Given the description of an element on the screen output the (x, y) to click on. 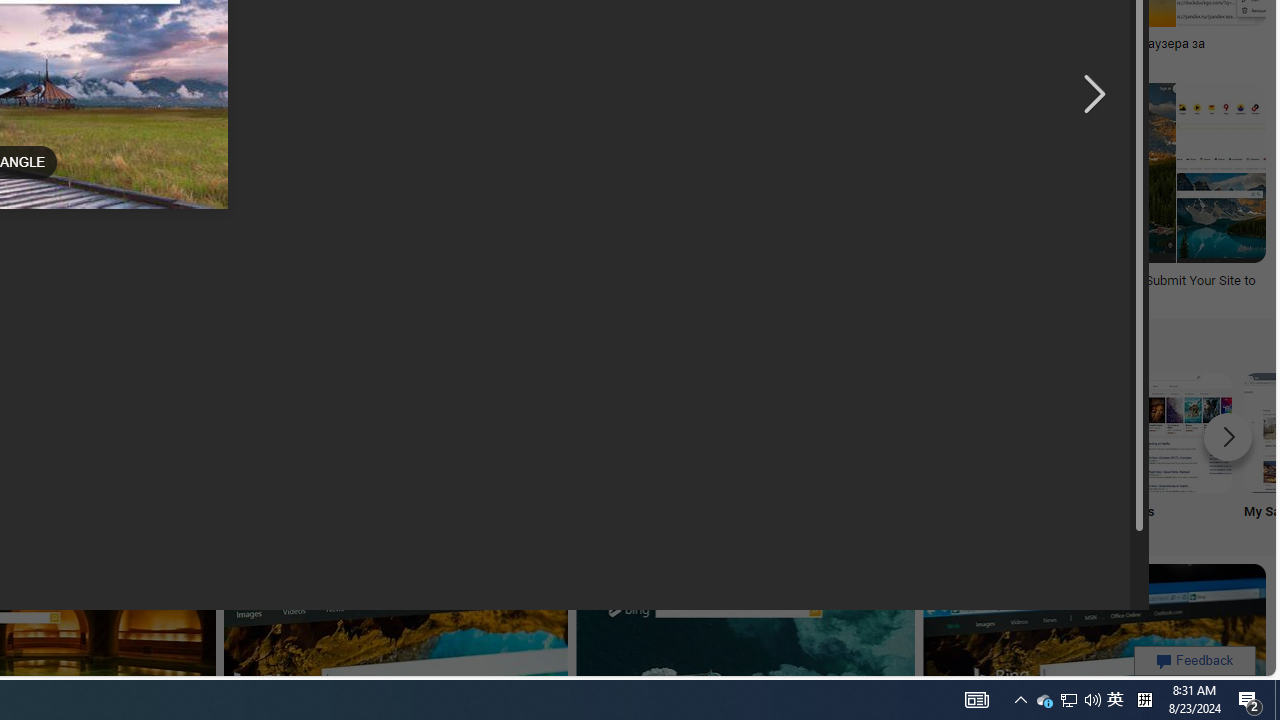
Web Searching | Computer Applications for Managers (216, 287)
Top 10 Search engine | REALITYPOD - Part 3 (372, 44)
Bing Search Settings Settings (907, 450)
New (775, 450)
Bing Search Tricks Tricks (1039, 450)
Bing Search Tricks (1039, 432)
Bing Search Bar Install Bar Install (380, 450)
Random (116, 450)
Bing Can Now Search for Any Object in an Image (710, 44)
Engine (248, 450)
Web Searching | Computer Applications for ManagersSave (220, 196)
Bing Random Search (116, 432)
